Given the description of an element on the screen output the (x, y) to click on. 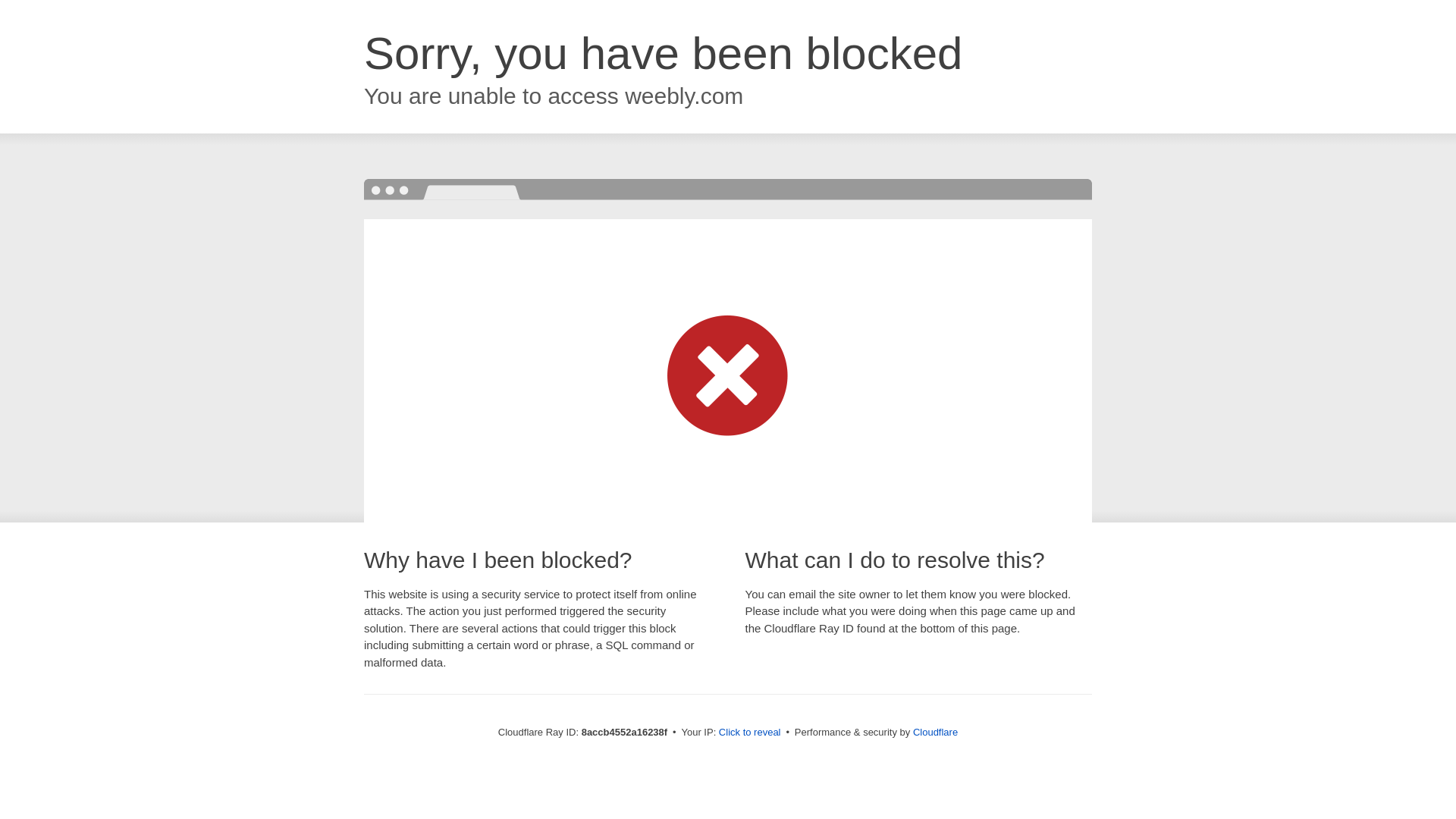
Click to reveal (749, 732)
Cloudflare (935, 731)
